Given the description of an element on the screen output the (x, y) to click on. 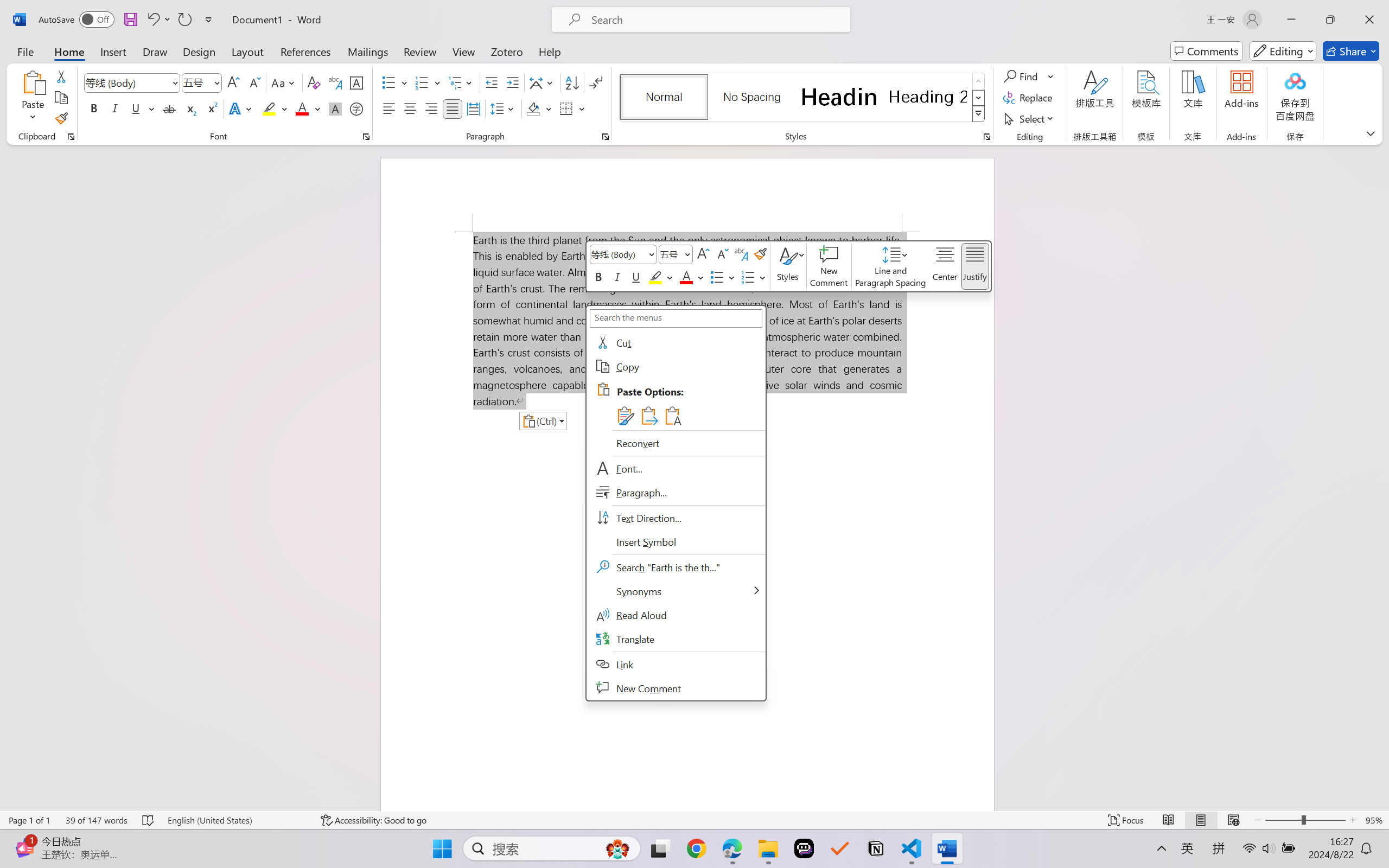
Multilevel List (461, 82)
Insert Symbol (675, 541)
Help (549, 51)
Cut (60, 75)
Text Direction... (675, 518)
New Comment (829, 266)
